Given the description of an element on the screen output the (x, y) to click on. 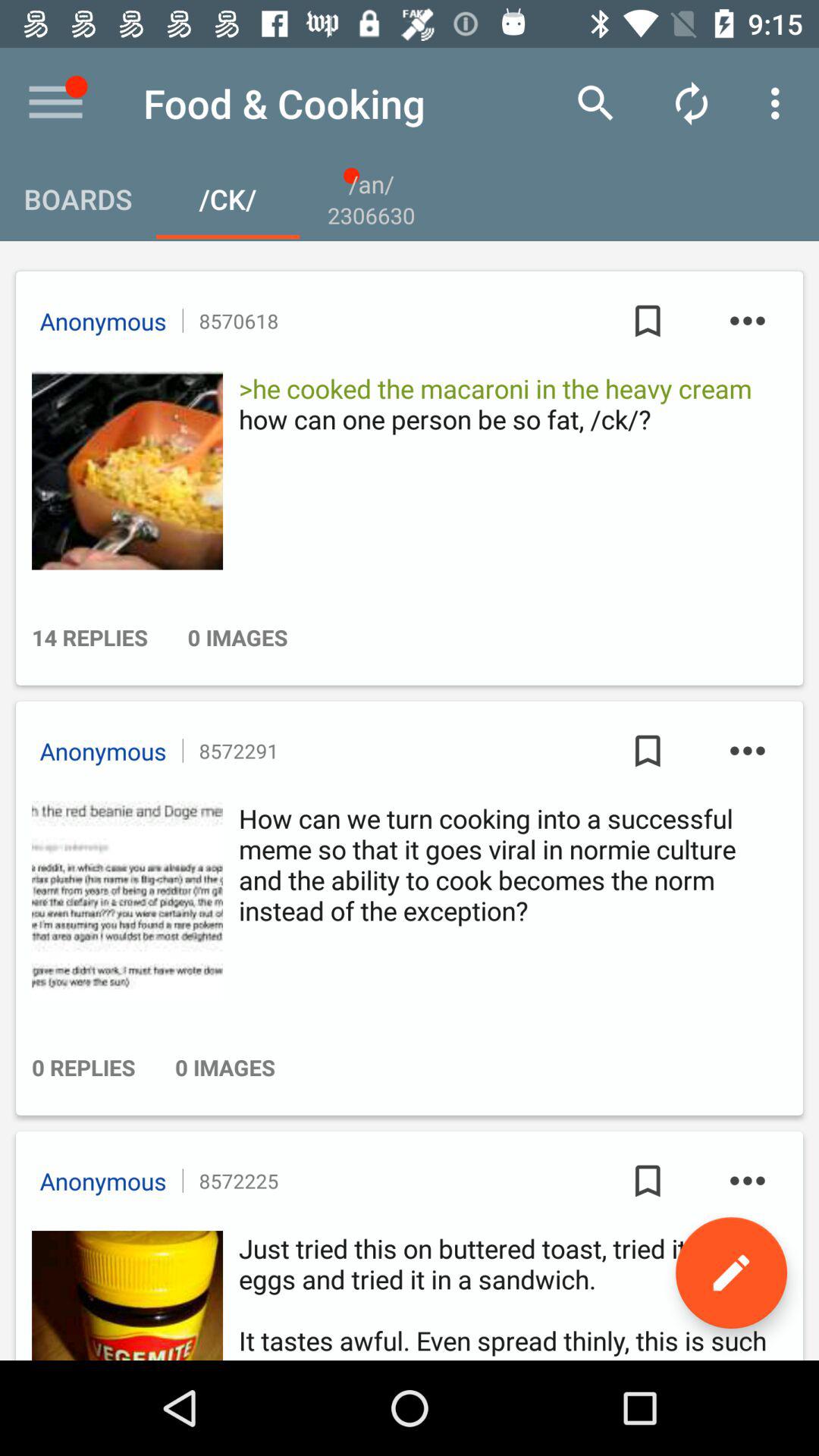
show full image (122, 469)
